Given the description of an element on the screen output the (x, y) to click on. 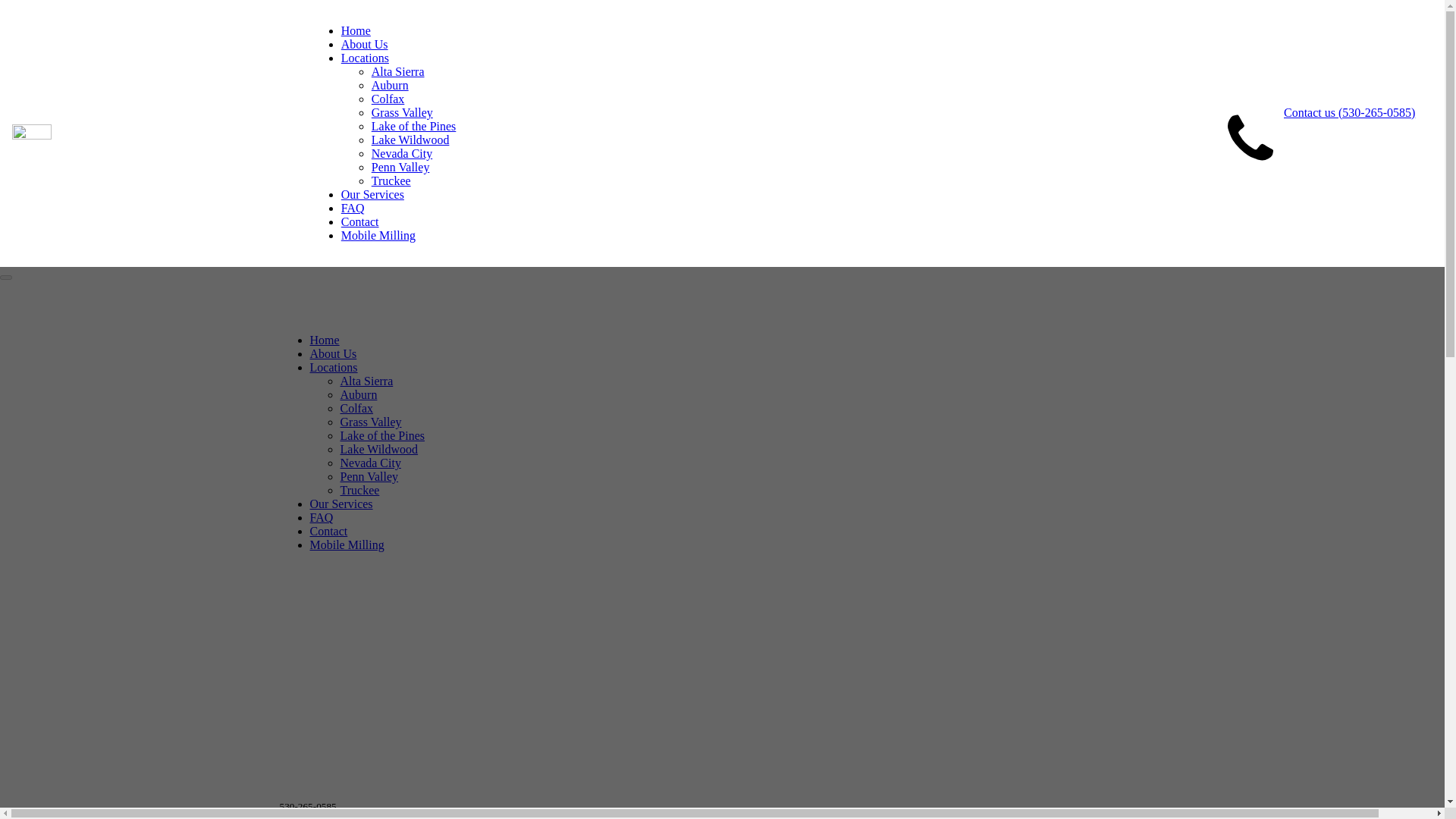
Our Services (372, 194)
Auburn (390, 84)
Mobile Milling (346, 544)
About Us (332, 353)
Truckee (358, 490)
Lake of the Pines (414, 125)
Mobile Milling (377, 235)
Alta Sierra (366, 380)
FAQ (352, 207)
Penn Valley (368, 476)
Lake Wildwood (378, 449)
Penn Valley (400, 166)
Lake Wildwood (410, 139)
Our Services (340, 503)
Home (323, 339)
